Given the description of an element on the screen output the (x, y) to click on. 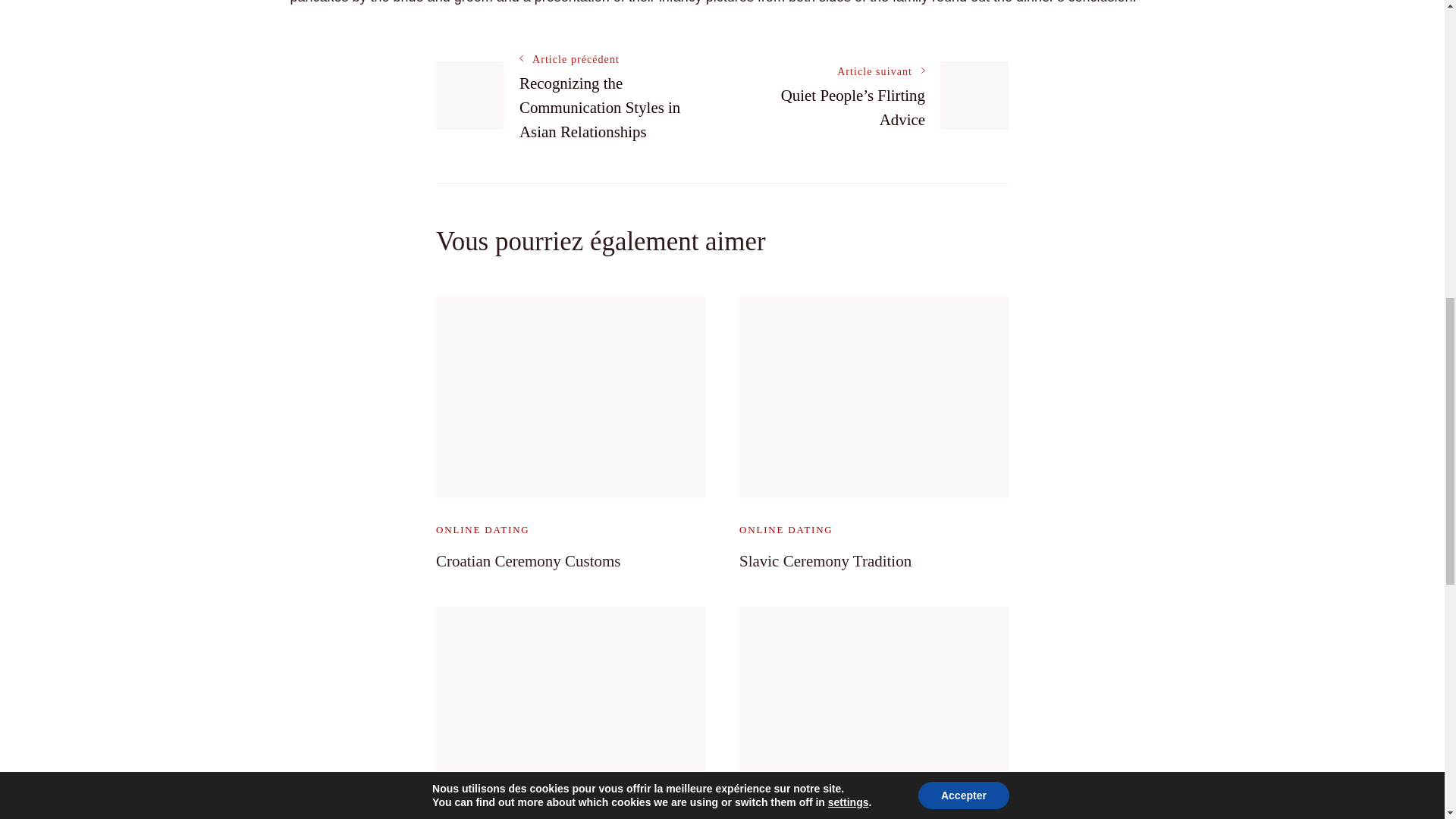
Croatian Ceremony Customs (527, 561)
ONLINE DATING (482, 529)
